Given the description of an element on the screen output the (x, y) to click on. 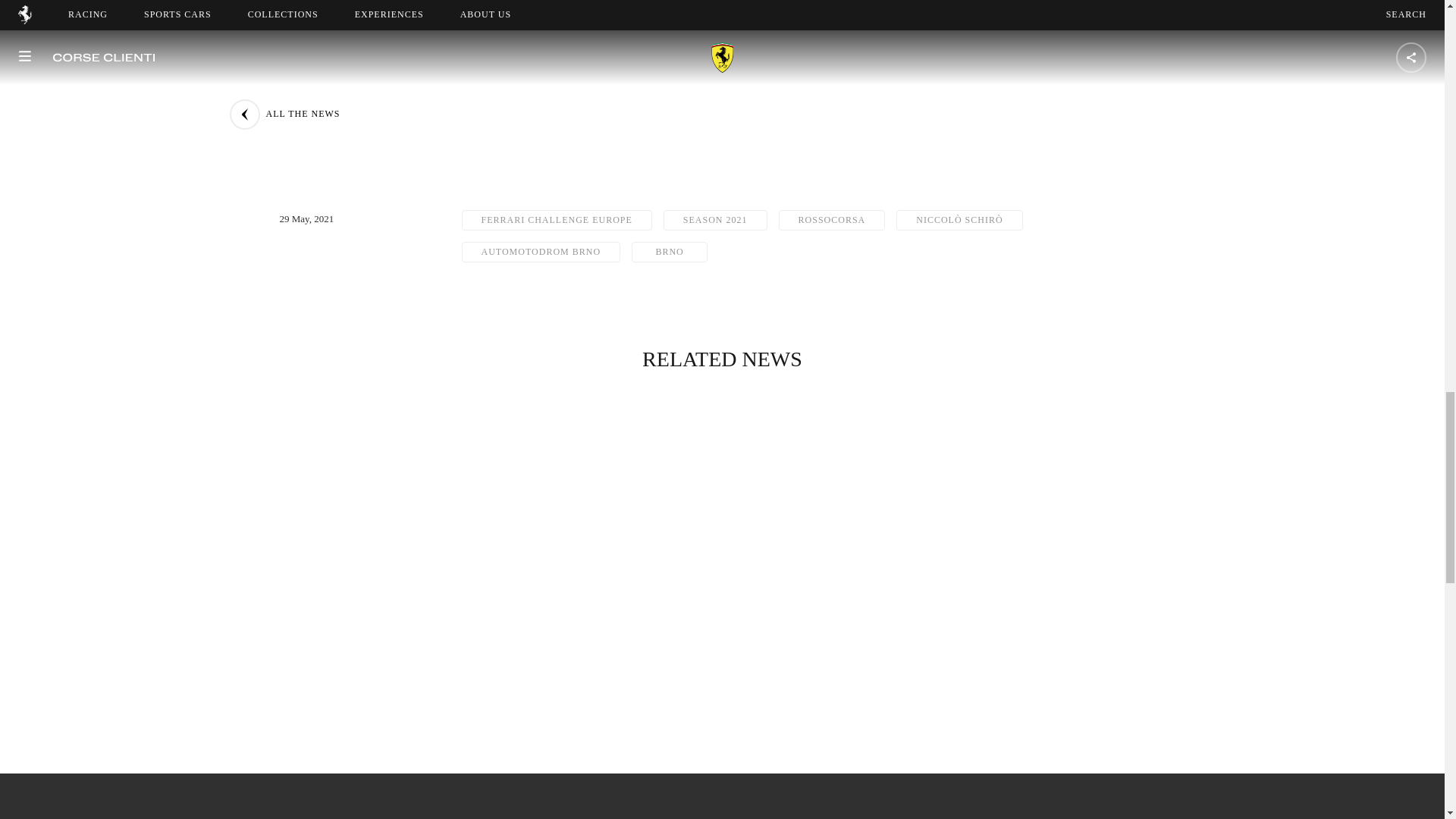
SEASON 2021 (715, 219)
ROSSOCORSA (831, 219)
BRNO (669, 251)
AUTOMOTODROM BRNO (540, 251)
FERRARI CHALLENGE EUROPE (555, 219)
